Given the description of an element on the screen output the (x, y) to click on. 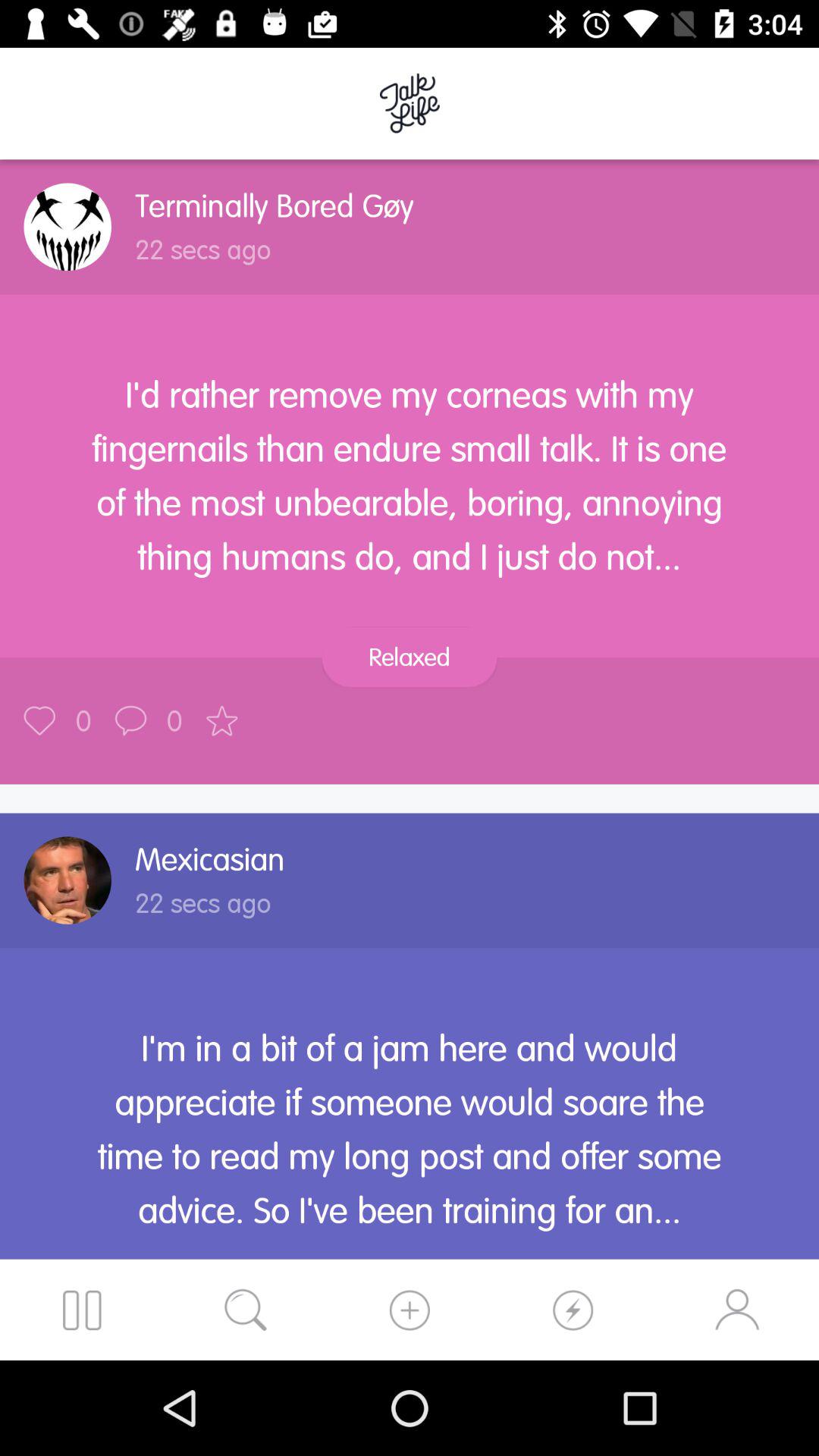
view profile (67, 880)
